Given the description of an element on the screen output the (x, y) to click on. 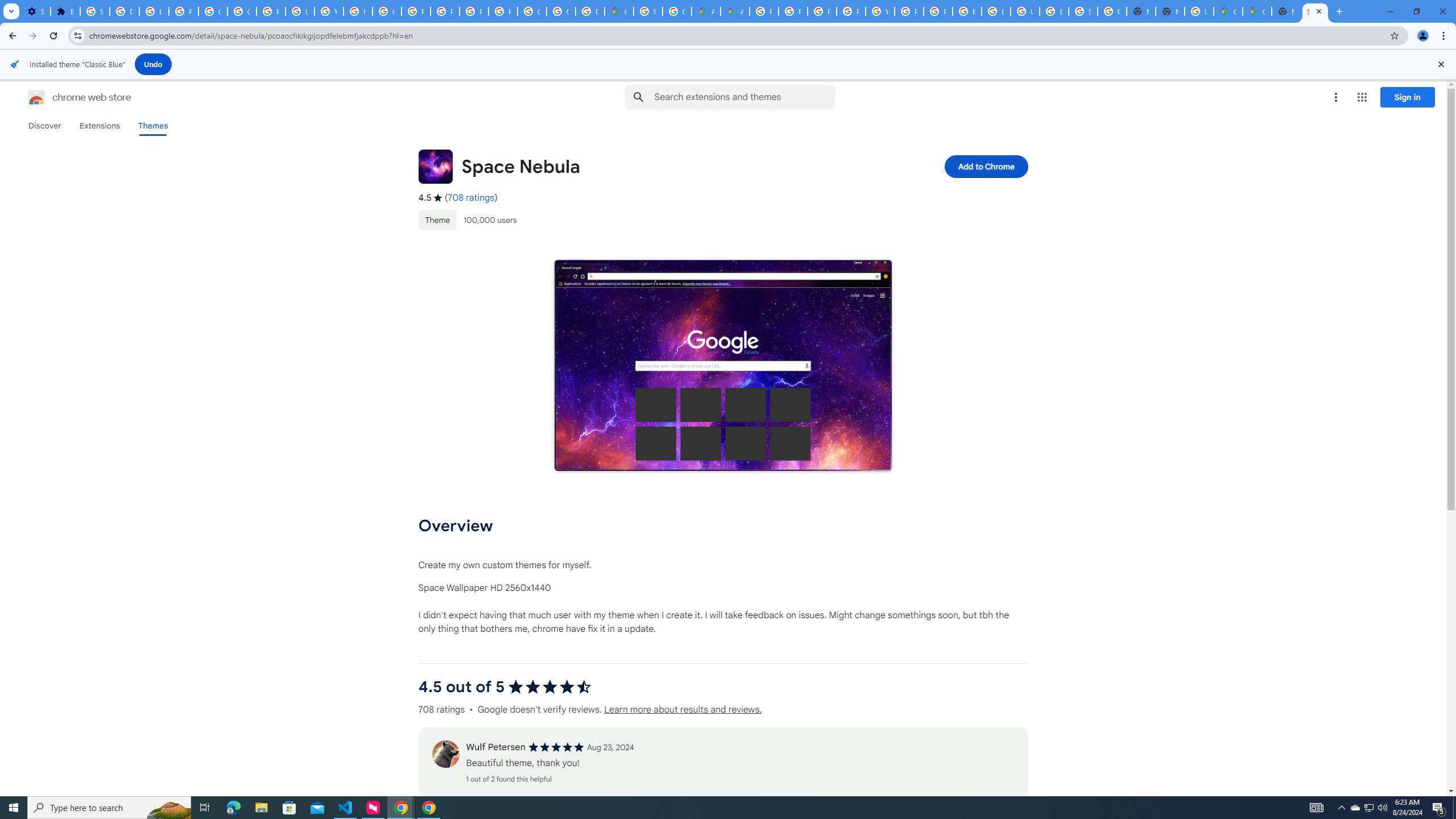
New Tab (1338, 11)
Sign in - Google Accounts (1082, 11)
Use Google Maps in Space - Google Maps Help (1198, 11)
708 ratings (470, 197)
Google Maps (619, 11)
Add to Chrome (985, 166)
5 out of 5 stars (556, 747)
Chrome (1445, 35)
Reload (52, 35)
https://scholar.google.com/ (357, 11)
Sign in - Google Accounts (648, 11)
